Given the description of an element on the screen output the (x, y) to click on. 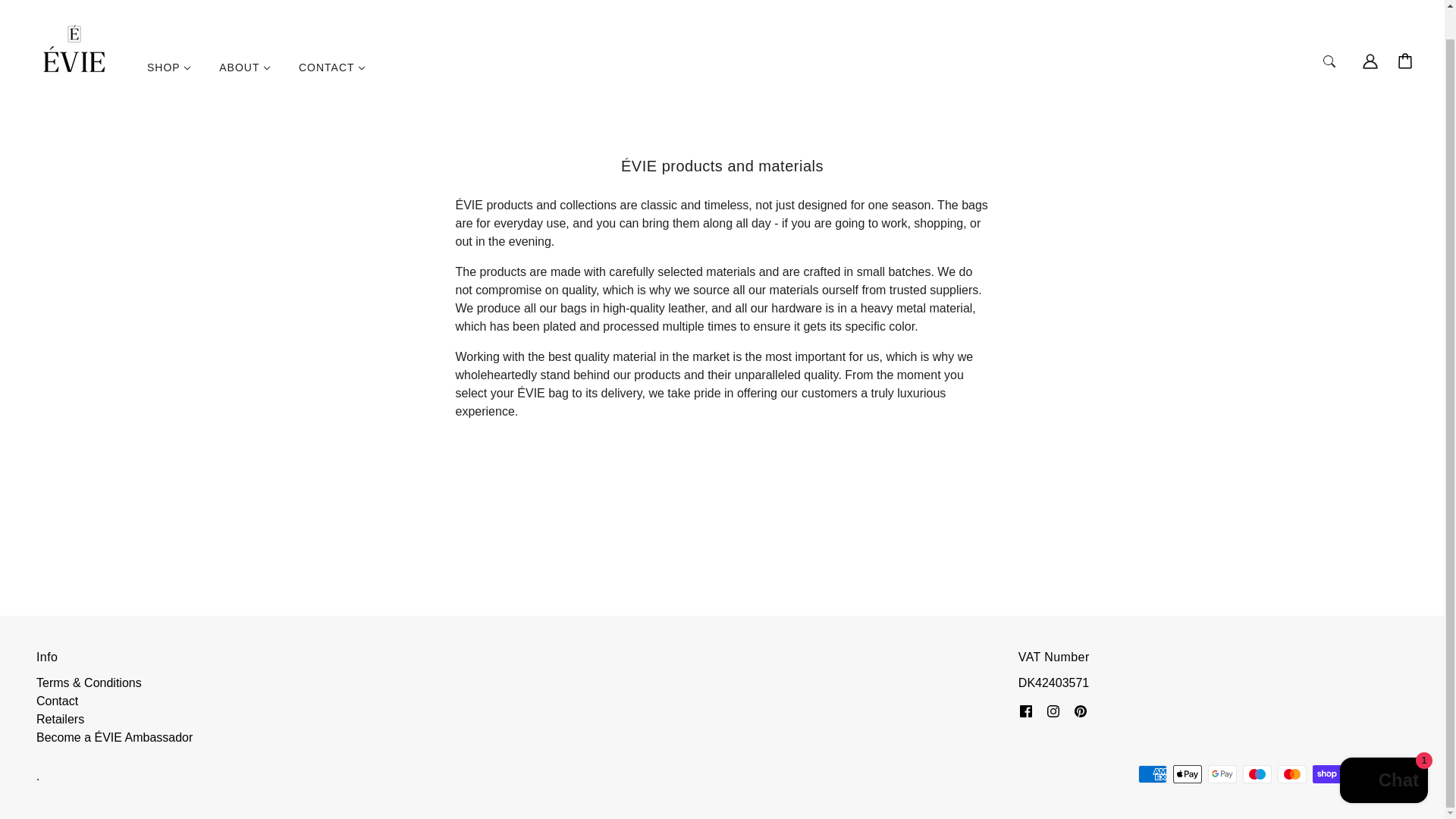
Shop Pay (1326, 773)
Union Pay (1361, 773)
CONTACT (331, 73)
Mastercard (1292, 773)
Maestro (1257, 773)
Contact (57, 700)
Retailers (60, 718)
Apple Pay (1187, 773)
ABOUT (244, 73)
SHOP (169, 73)
